Given the description of an element on the screen output the (x, y) to click on. 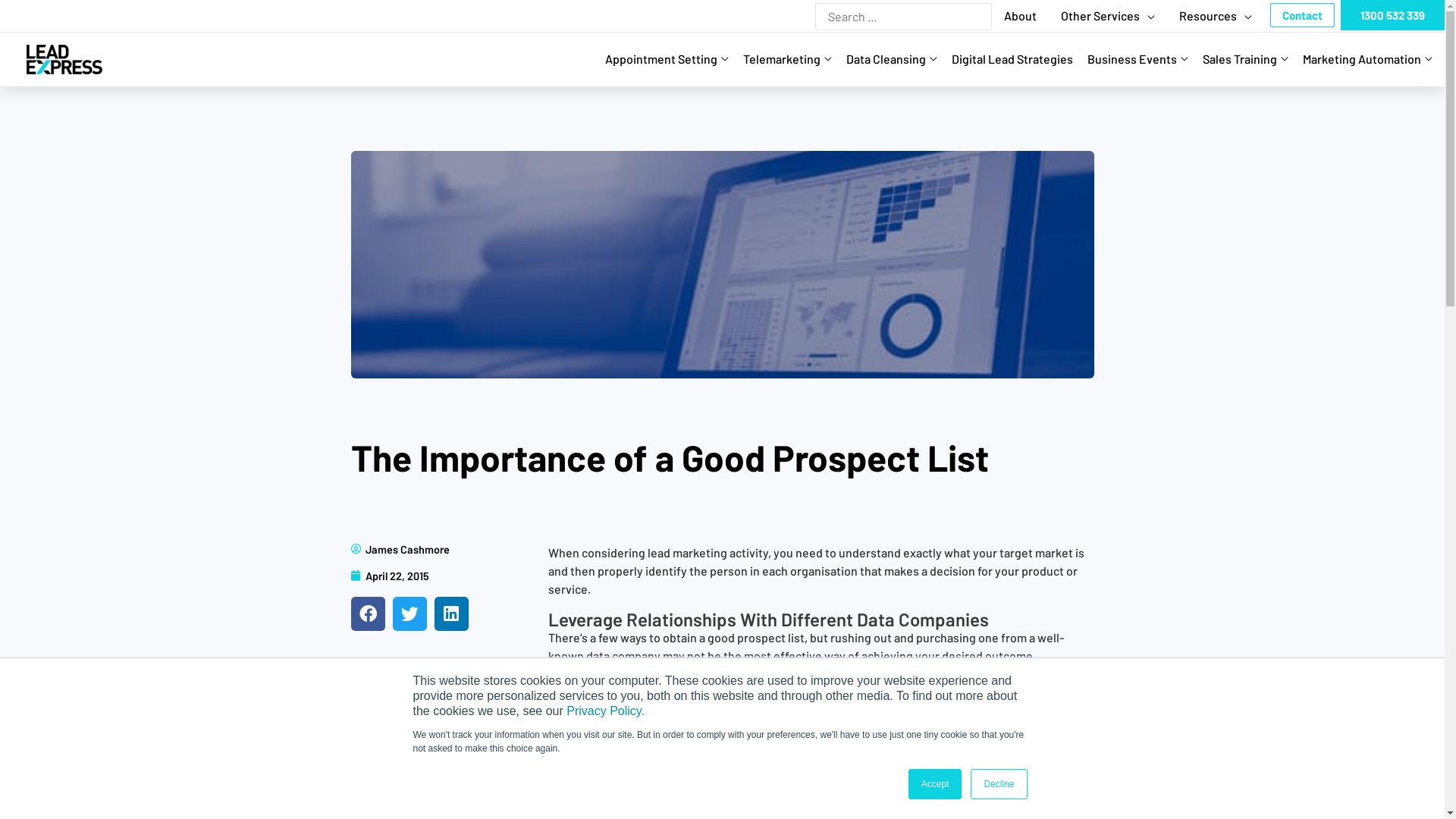
Data Cleansing Element type: text (896, 59)
About Element type: text (1019, 15)
1300 532 339 Element type: text (1392, 15)
April 22, 2015 Element type: text (389, 575)
Marketing Automation Element type: text (1372, 59)
James Cashmore Element type: text (399, 549)
Accept Element type: text (935, 783)
Resources Element type: text (1215, 15)
Digital Lead Strategies Element type: text (1017, 59)
Sales Training Element type: text (1250, 59)
Decline Element type: text (998, 783)
Contact Element type: text (1302, 15)
Privacy Policy. Element type: text (605, 710)
Telemarketing Element type: text (792, 59)
Business Events Element type: text (1142, 59)
Other Services Element type: text (1107, 15)
Appointment Setting Element type: text (671, 59)
